Given the description of an element on the screen output the (x, y) to click on. 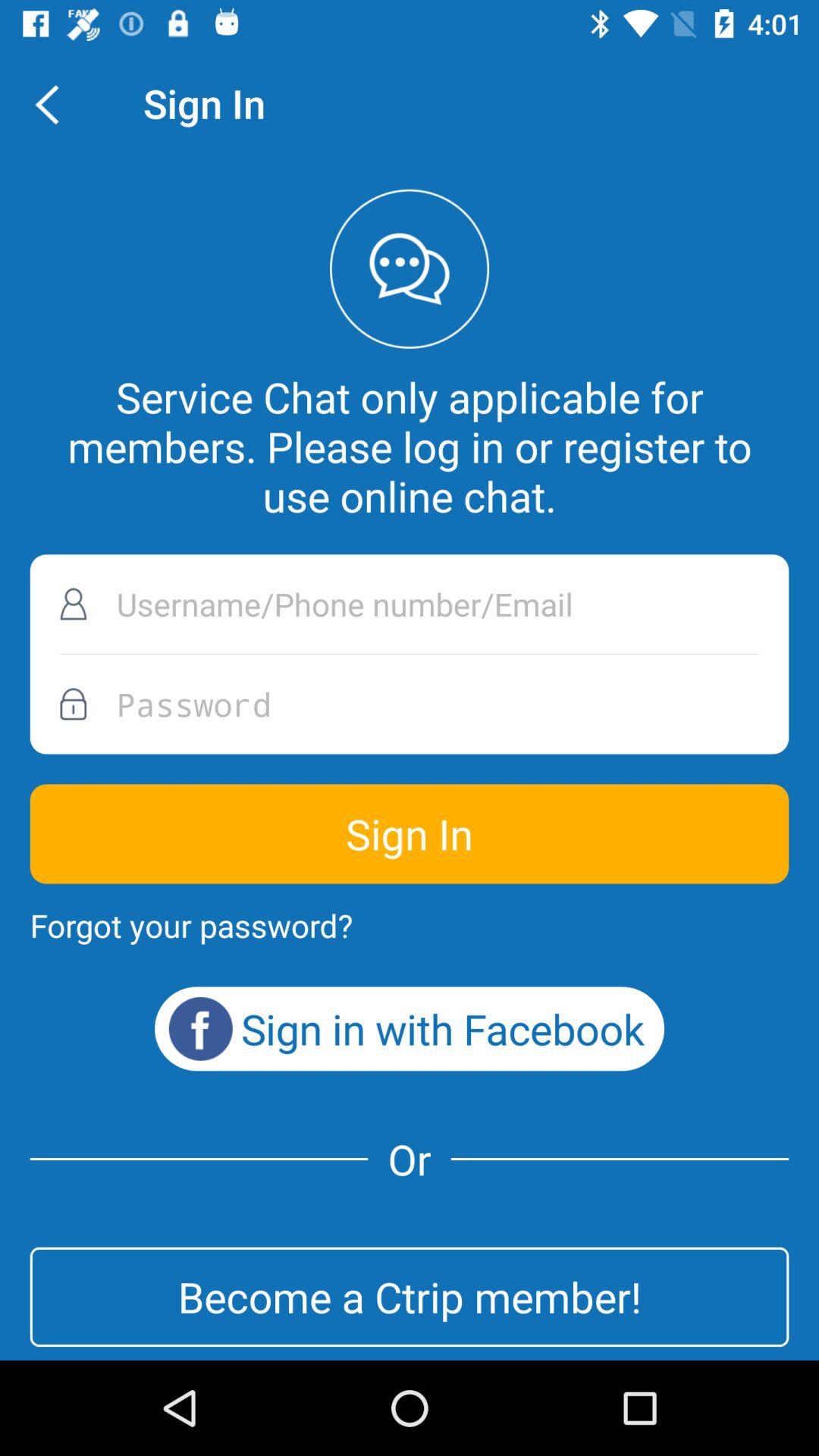
select icon below service chat only item (409, 604)
